Given the description of an element on the screen output the (x, y) to click on. 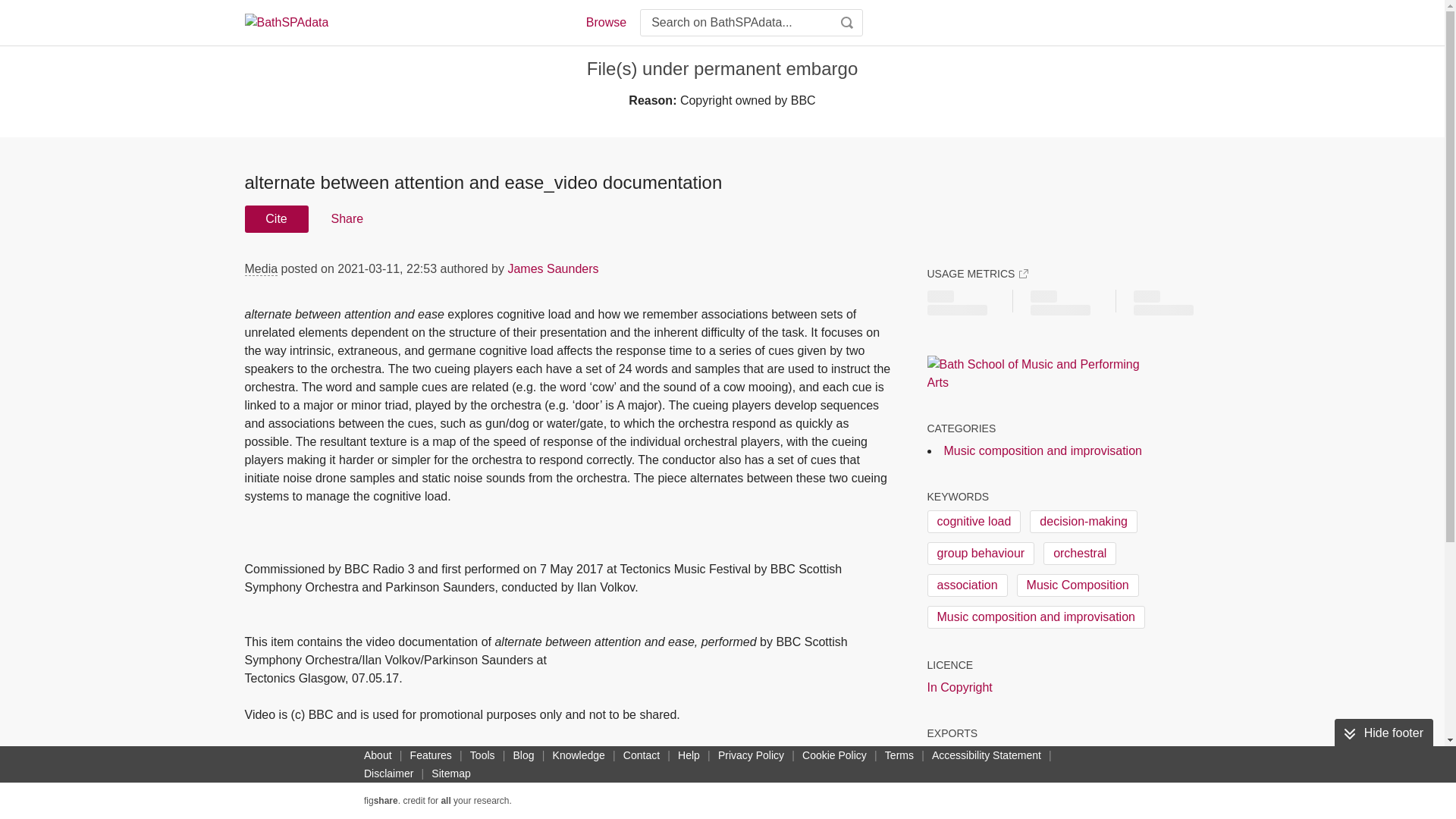
Disclaimer (388, 773)
group behaviour (979, 553)
association (966, 585)
Terms (899, 755)
Contact (640, 755)
Music composition and improvisation (1035, 617)
Music composition and improvisation (1042, 450)
Browse (605, 22)
James Saunders (552, 268)
Blog (523, 755)
Help (688, 755)
Tools (482, 755)
USAGE METRICS (976, 273)
Music Composition (1077, 585)
orchestral (1079, 553)
